Given the description of an element on the screen output the (x, y) to click on. 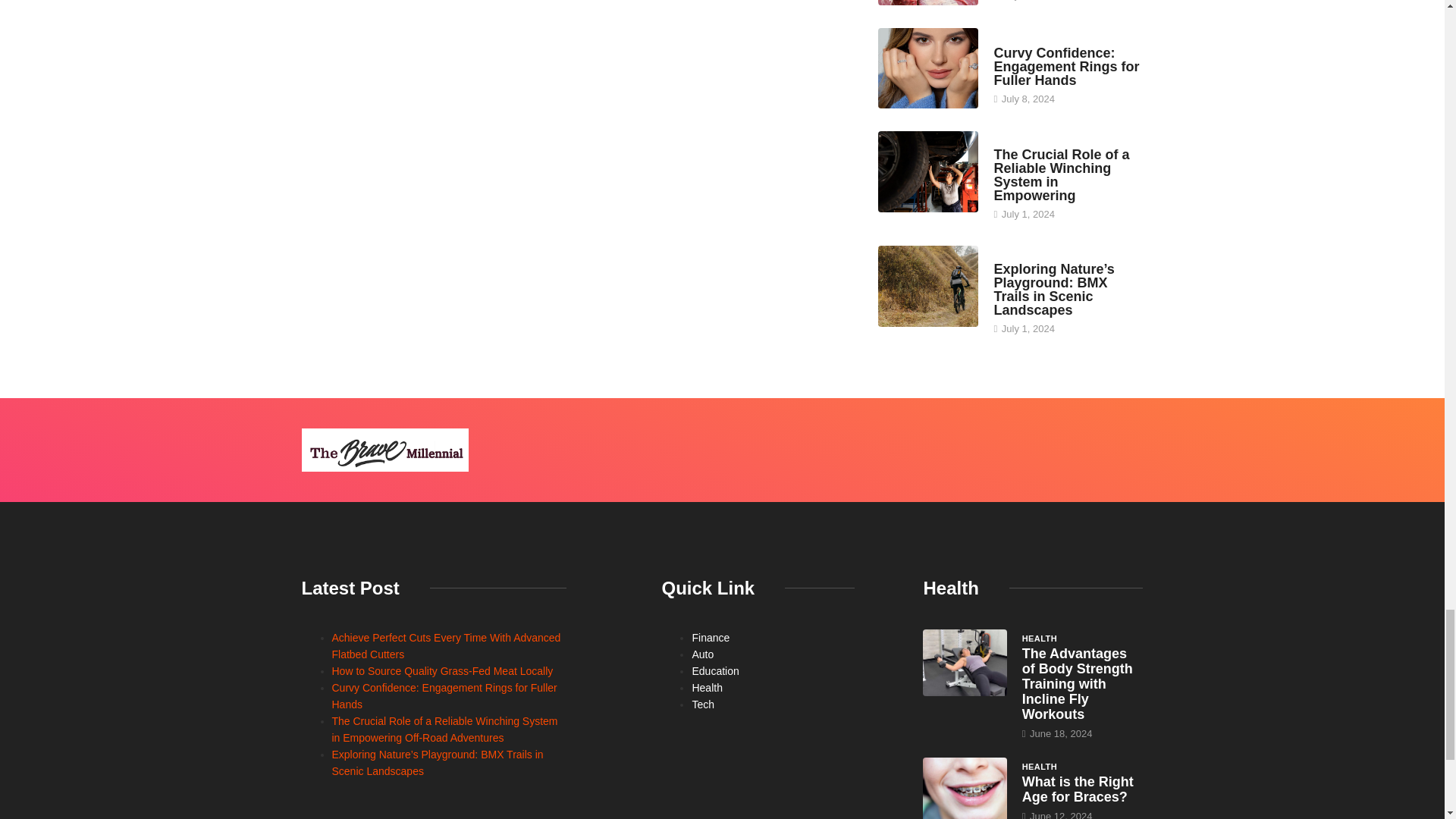
Curvy Confidence: Engagement Rings for Fuller Hands (927, 67)
How to Source Quality Grass-Fed Meat Locally (927, 2)
Curvy Confidence: Engagement Rings for Fuller Hands (1065, 66)
